Given the description of an element on the screen output the (x, y) to click on. 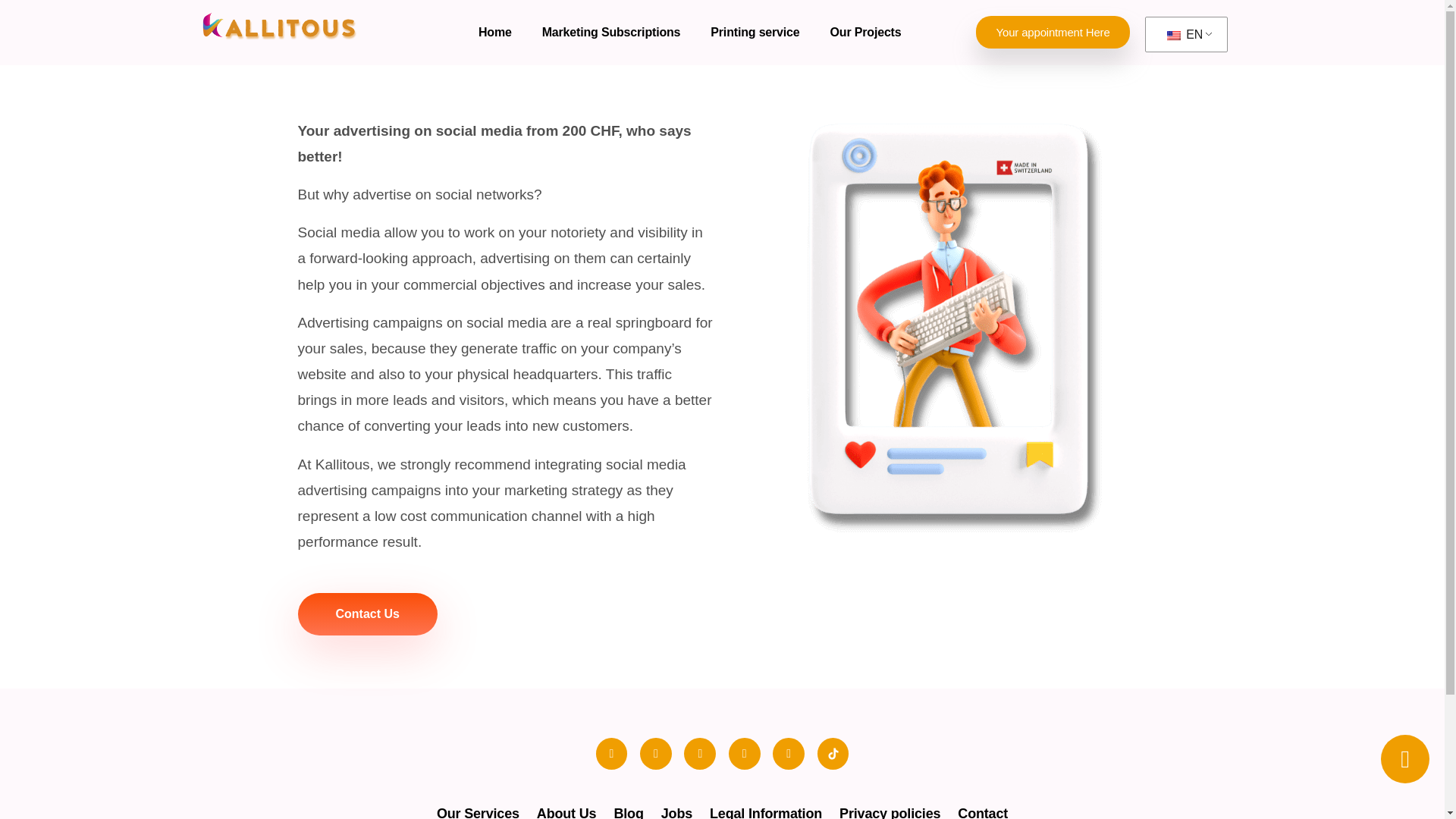
Your appointment Here (1052, 31)
Home (495, 32)
English (1173, 35)
English (1183, 34)
Our Projects (866, 32)
Marketing Subscriptions (611, 32)
EN (1183, 34)
Printing service (754, 32)
